Given the description of an element on the screen output the (x, y) to click on. 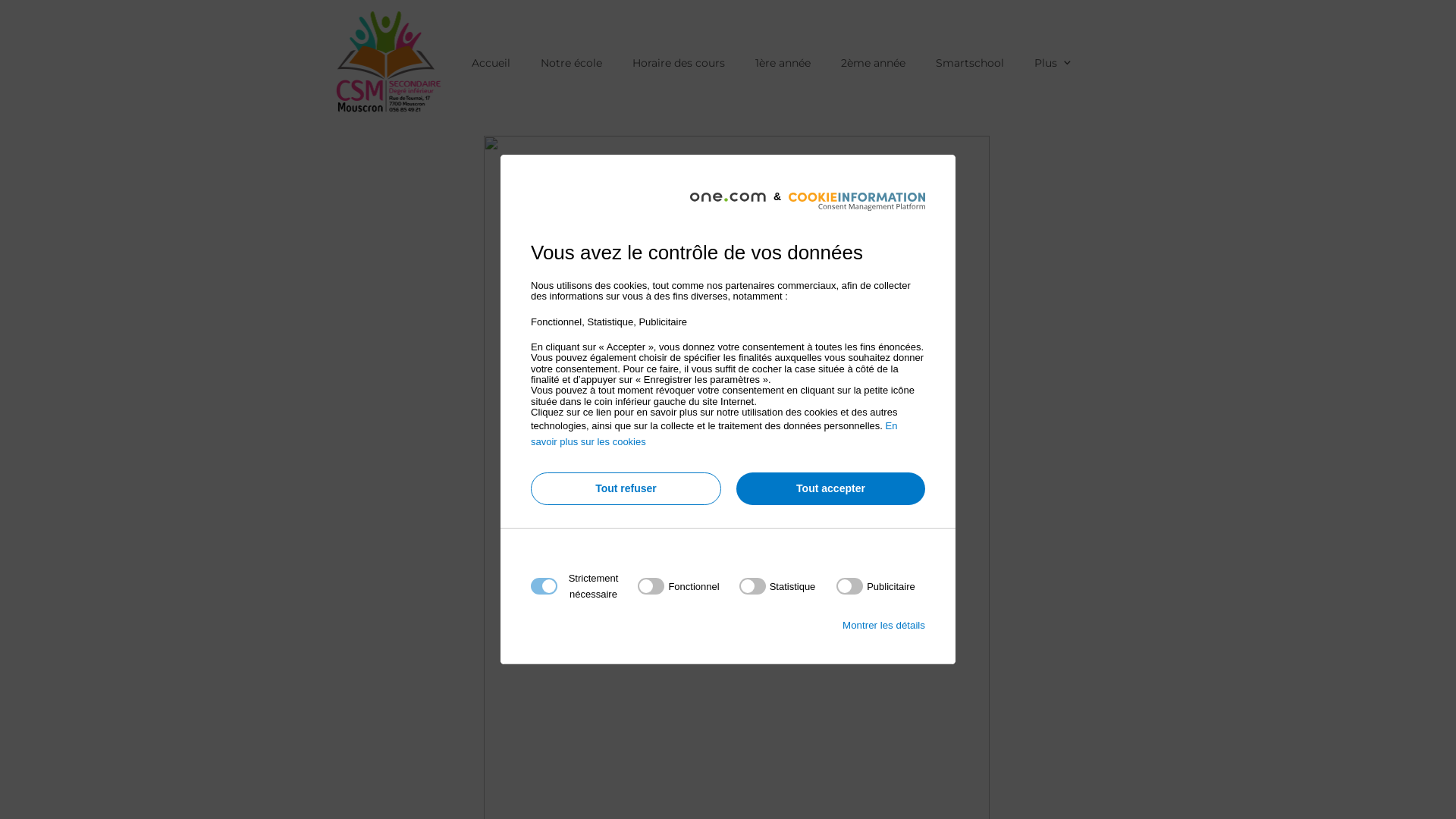
Accueil Element type: text (490, 62)
Tout accepter Element type: text (830, 488)
Horaire des cours Element type: text (678, 62)
Tout refuser Element type: text (625, 488)
Smartschool Element type: text (969, 62)
on Element type: text (777, 586)
Plus Element type: text (1053, 62)
on Element type: text (677, 586)
on Element type: text (875, 586)
Fonctionnel Element type: text (723, 769)
En savoir plus sur les cookies Element type: text (713, 433)
